Given the description of an element on the screen output the (x, y) to click on. 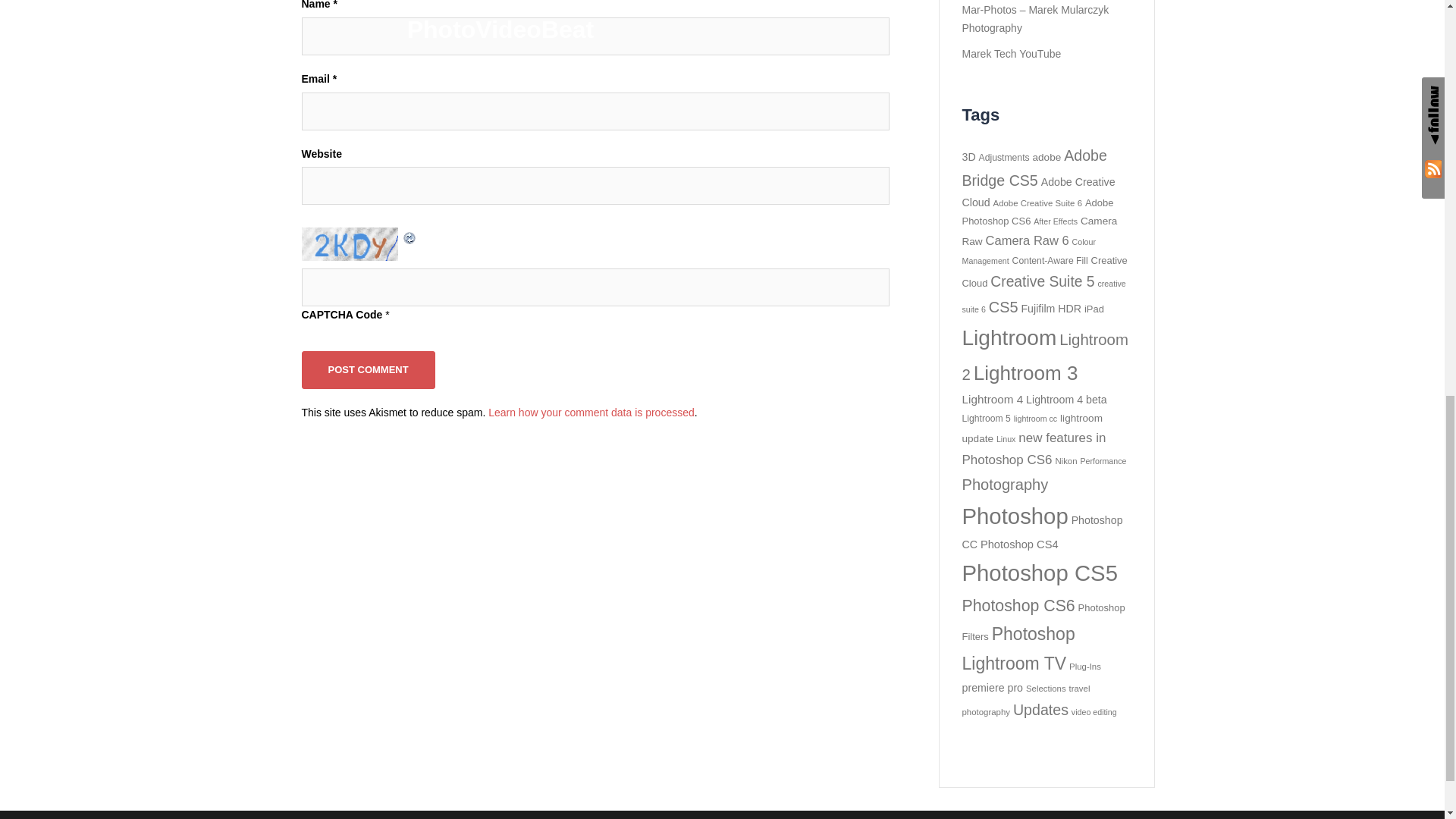
Post Comment (368, 369)
Post Comment (368, 369)
CAPTCHA (351, 243)
Learn how your comment data is processed (590, 412)
adobe (1046, 156)
Adobe Bridge CS5 (1033, 168)
Refresh (410, 235)
Adjustments (1003, 157)
Adobe Photoshop CS6 (1036, 211)
After Effects (1055, 221)
Camera Raw (1038, 231)
Marek Tech YouTube (1010, 53)
Adobe Creative Cloud (1037, 192)
Adobe Creative Suite 6 (1036, 203)
3D (967, 156)
